Given the description of an element on the screen output the (x, y) to click on. 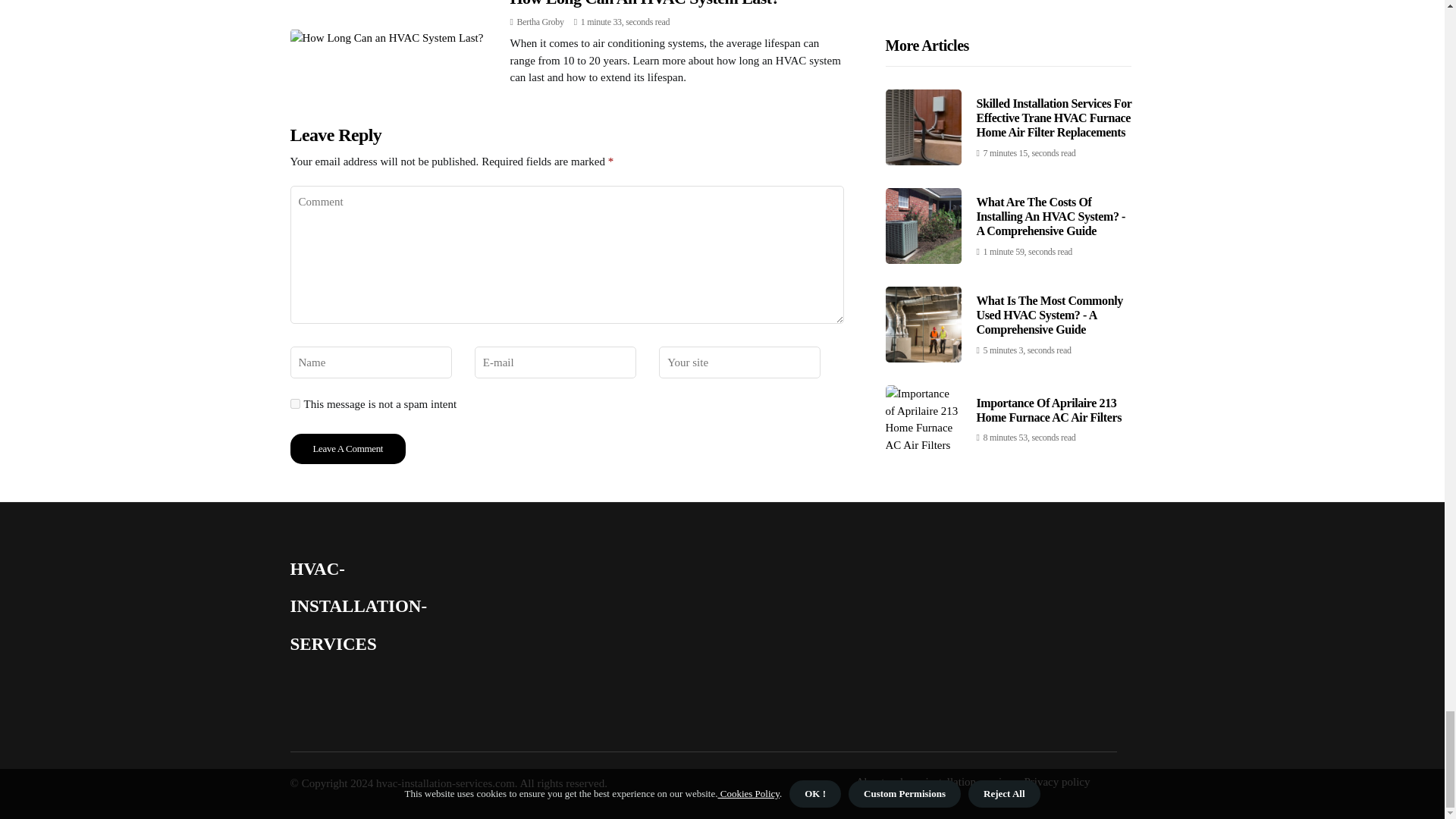
Leave a Comment (347, 449)
yes (294, 403)
How Long Can An HVAC System Last? (643, 3)
Bertha Groby (540, 21)
Leave a Comment (347, 449)
Posts by Bertha Groby (540, 21)
